Given the description of an element on the screen output the (x, y) to click on. 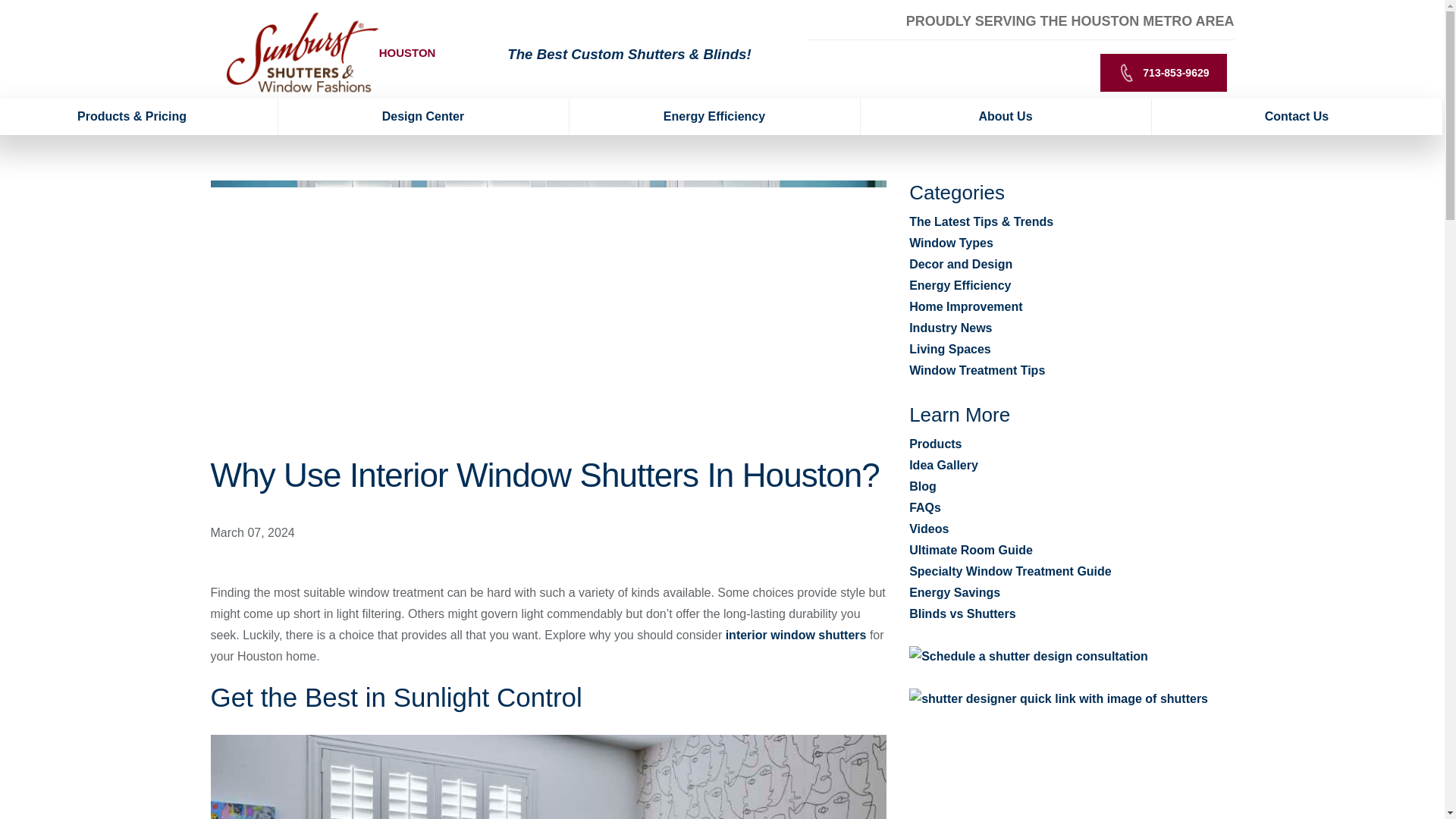
Sunburst Shutters Houston Home (301, 52)
Design Center (423, 116)
Energy Efficiency (714, 116)
713-853-9629 (1162, 72)
